Given the description of an element on the screen output the (x, y) to click on. 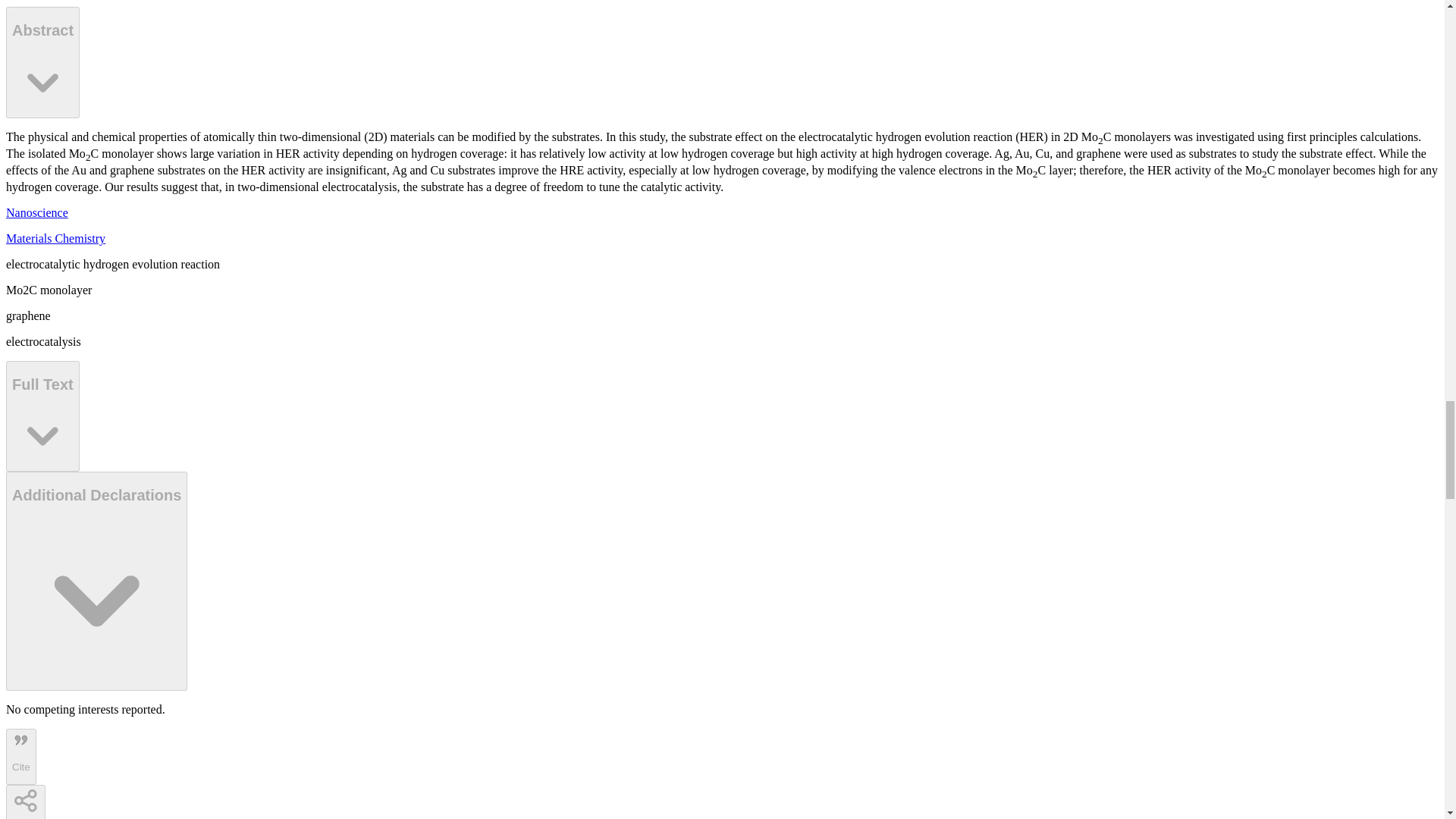
Share (25, 801)
Materials Chemistry (54, 237)
Nanoscience (36, 212)
